Given the description of an element on the screen output the (x, y) to click on. 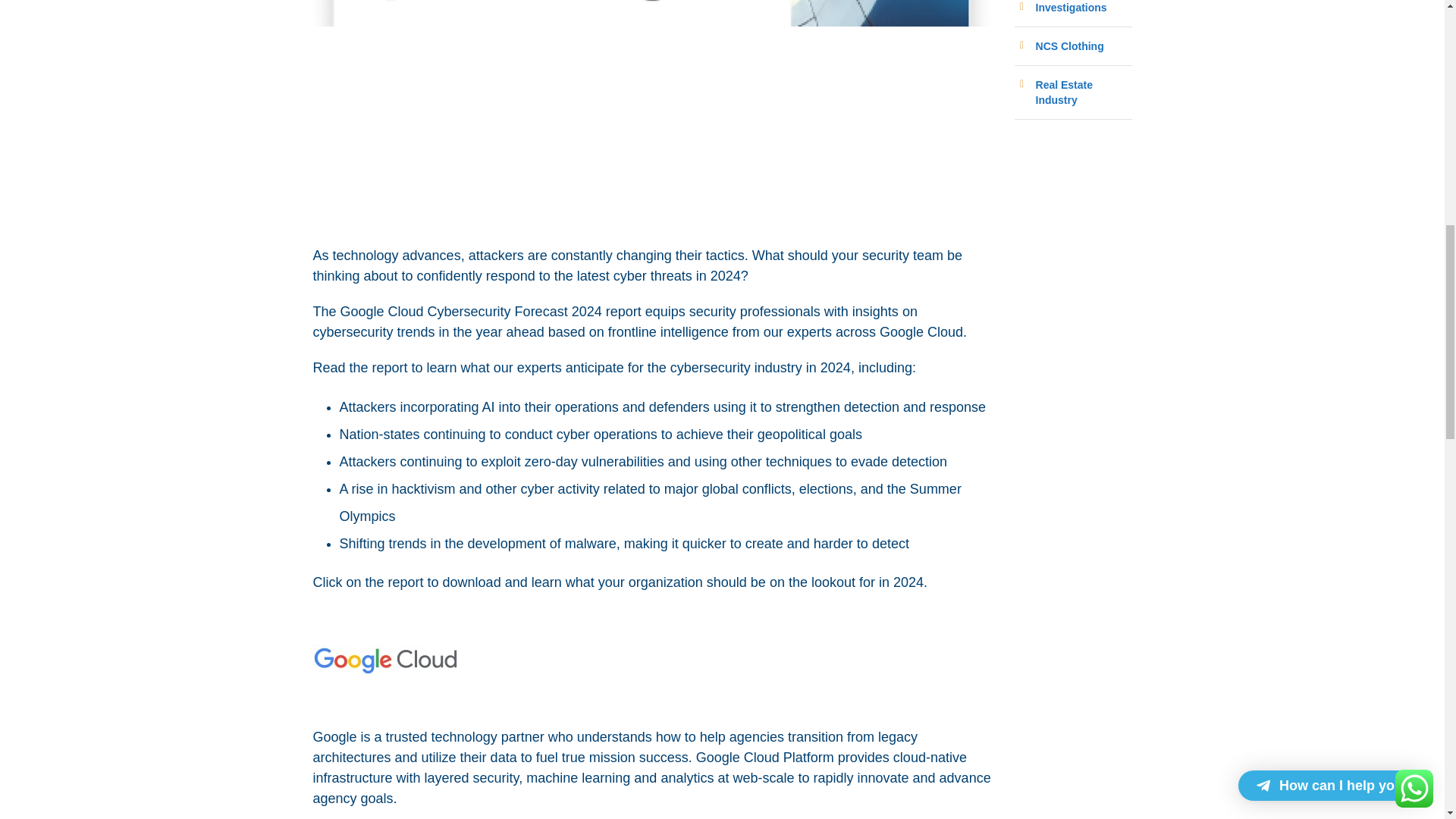
google-12-19-23-1.PNG (652, 13)
Advertisement (652, 133)
